Given the description of an element on the screen output the (x, y) to click on. 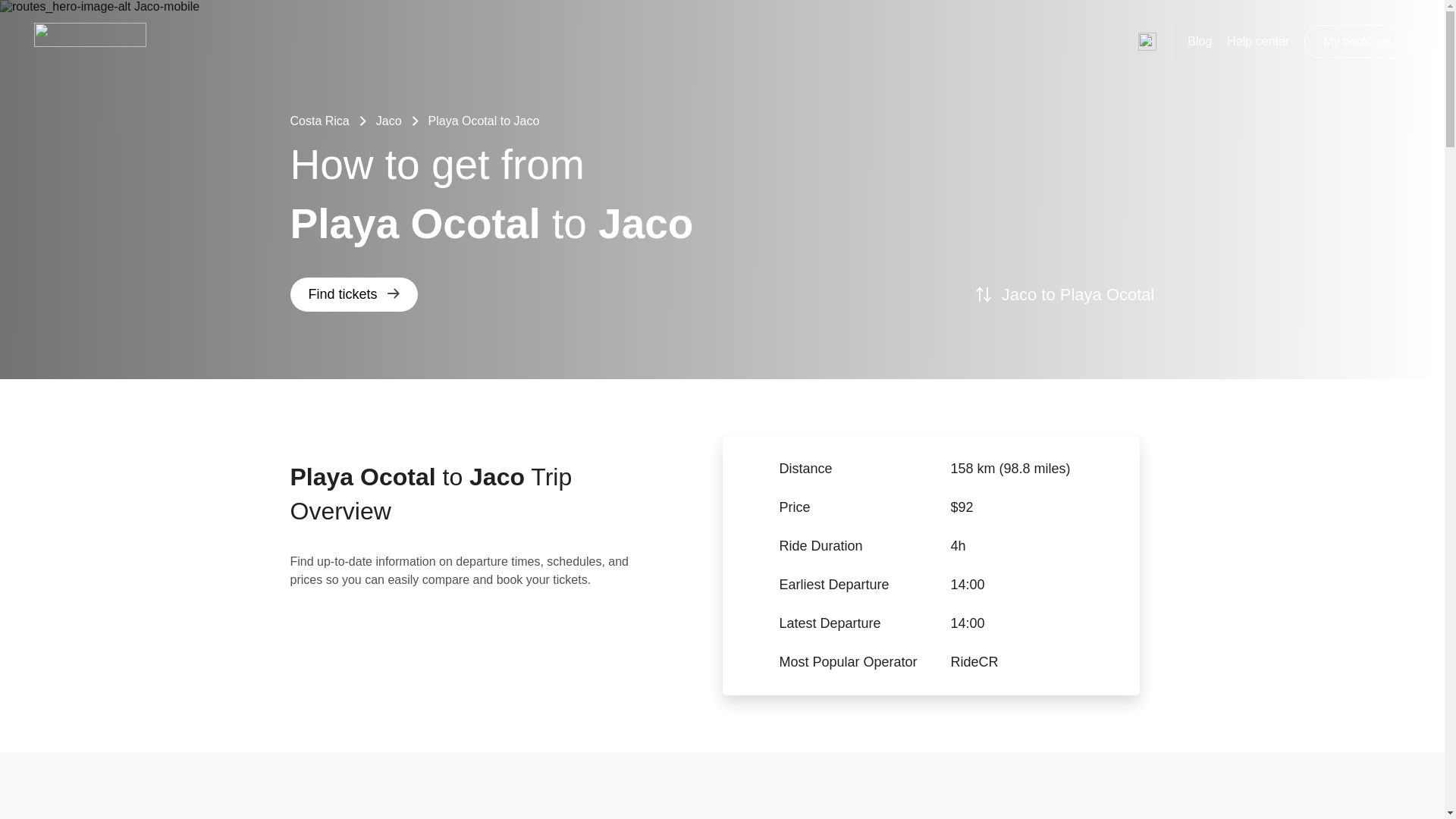
RideCR (1044, 662)
Jaco (388, 120)
Costa Rica (319, 120)
Find tickets (352, 294)
Help center (1257, 41)
Playa Ocotal to Jaco (484, 120)
Blog (1199, 41)
My bookings (1357, 41)
Jaco to Playa Ocotal (1064, 294)
